Given the description of an element on the screen output the (x, y) to click on. 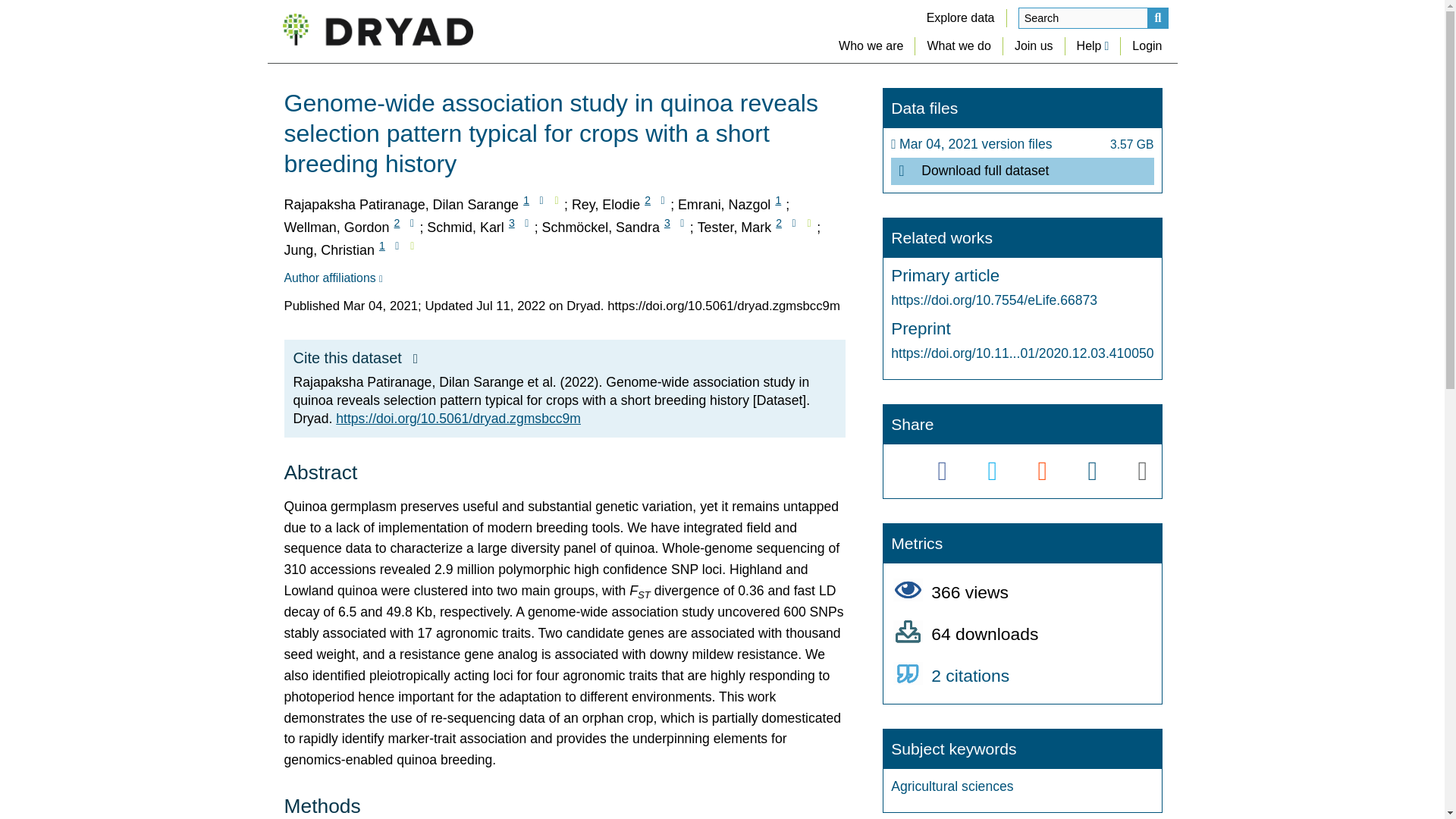
Who we are (870, 45)
Author affiliations (332, 278)
